Given the description of an element on the screen output the (x, y) to click on. 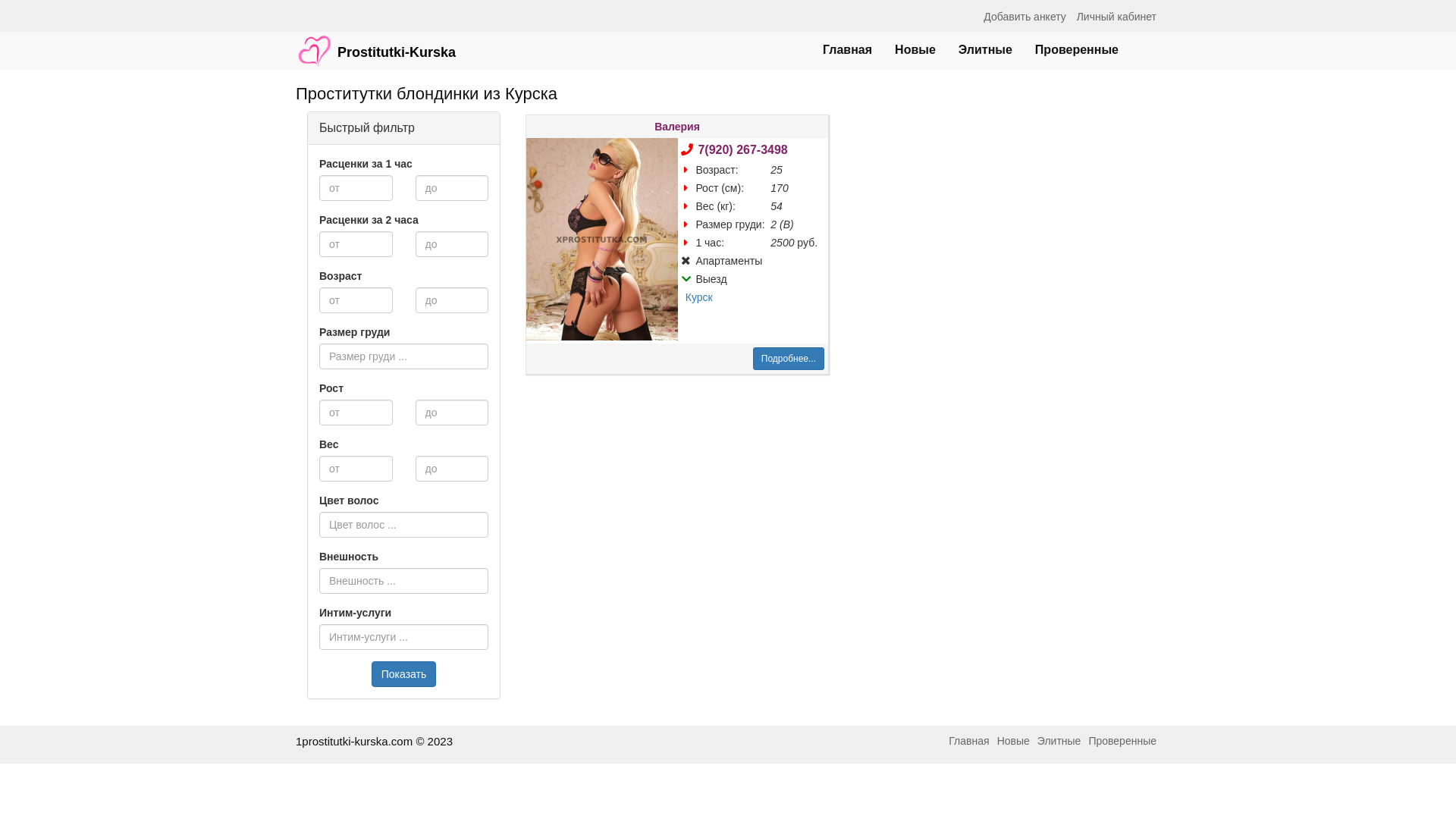
Prostitutki-Kurska Element type: text (375, 43)
